Given the description of an element on the screen output the (x, y) to click on. 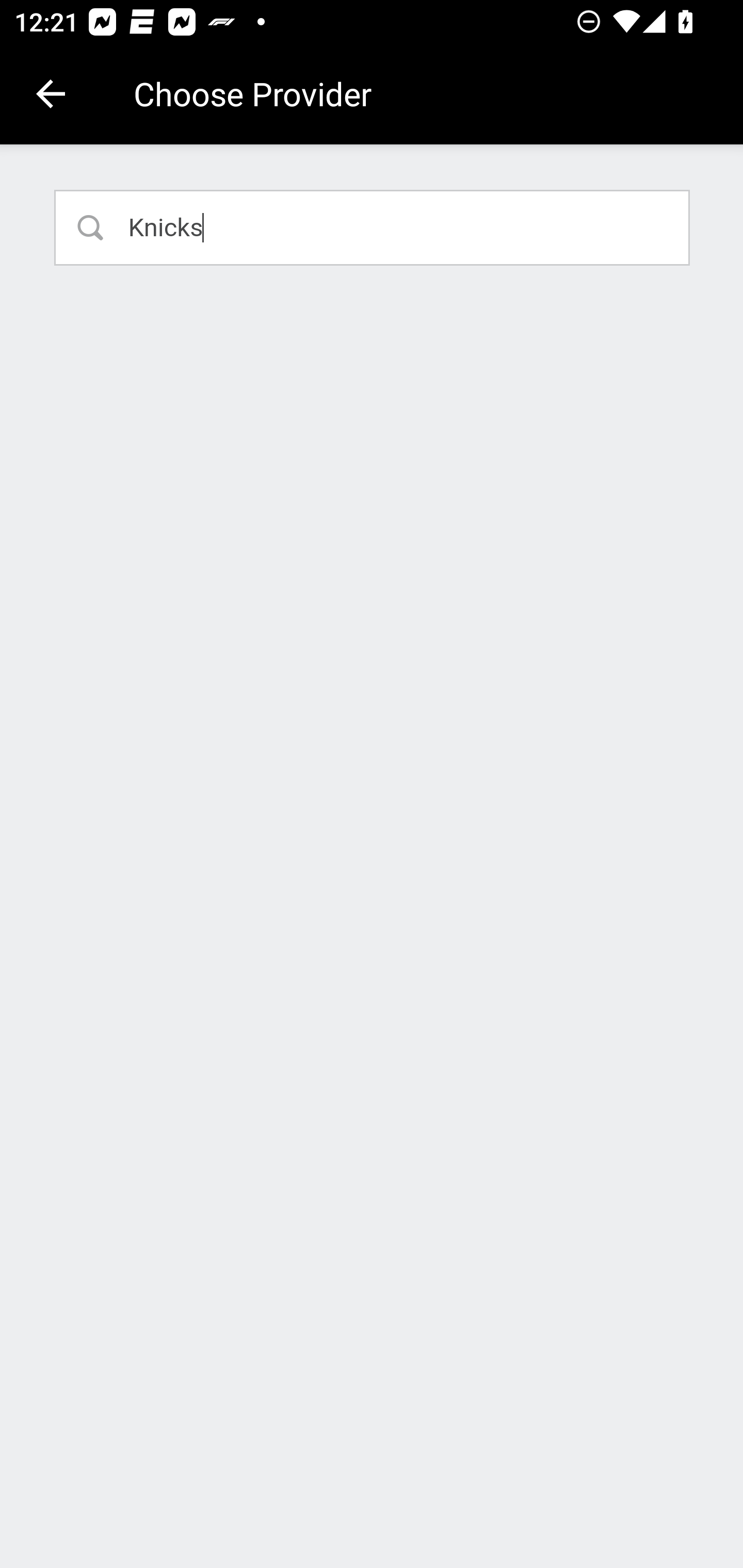
Navigate up (50, 93)
Knicks (372, 227)
